Given the description of an element on the screen output the (x, y) to click on. 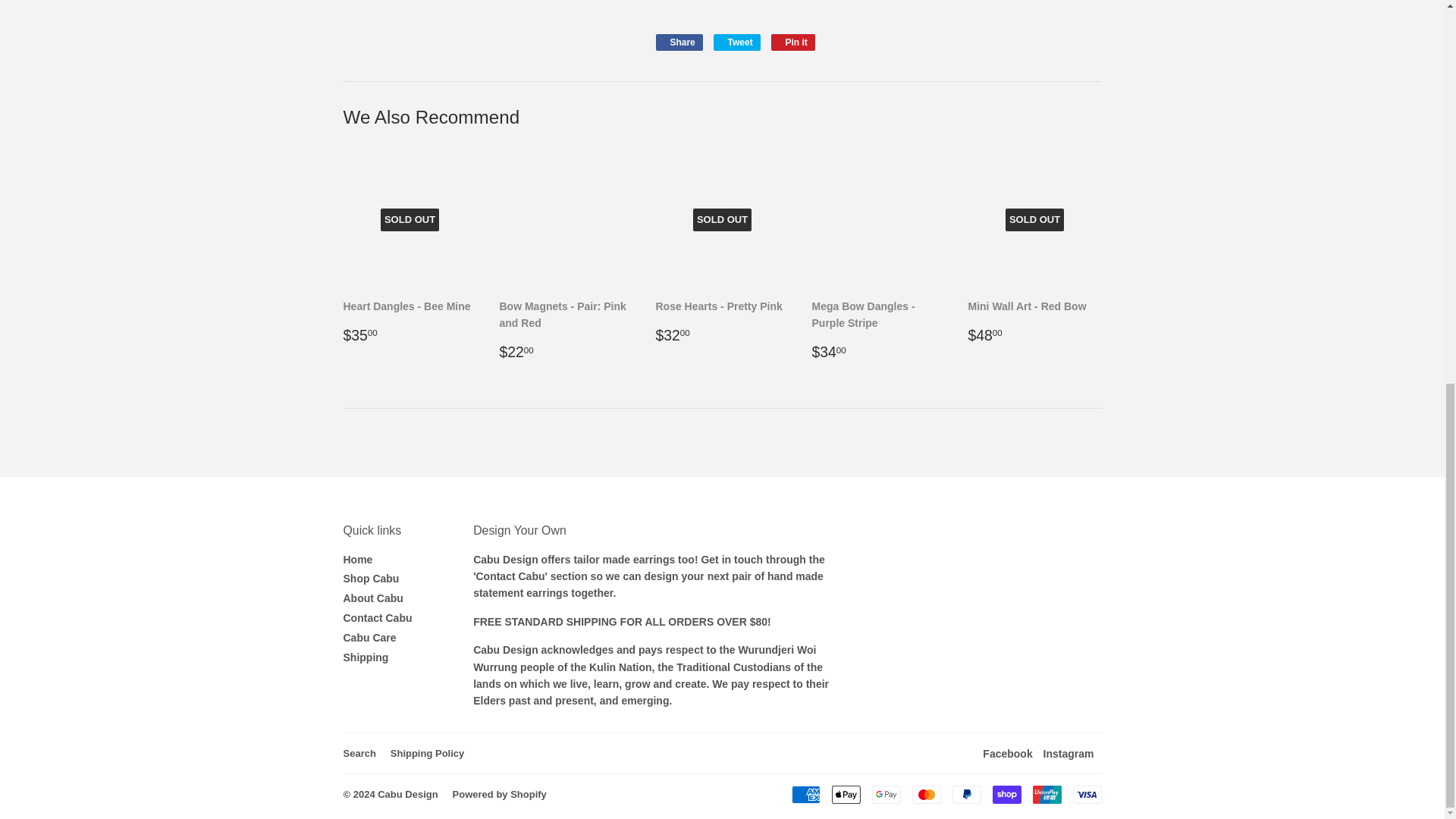
PayPal (966, 794)
Union Pay (678, 42)
Shop Pay (1046, 794)
Cabu Design on Instagram (1005, 794)
Visa (1068, 753)
Tweet on Twitter (1085, 794)
Share on Facebook (736, 42)
Mastercard (793, 42)
Cabu Design on Facebook (678, 42)
Apple Pay (925, 794)
American Express (1007, 753)
Pin on Pinterest (736, 42)
